Given the description of an element on the screen output the (x, y) to click on. 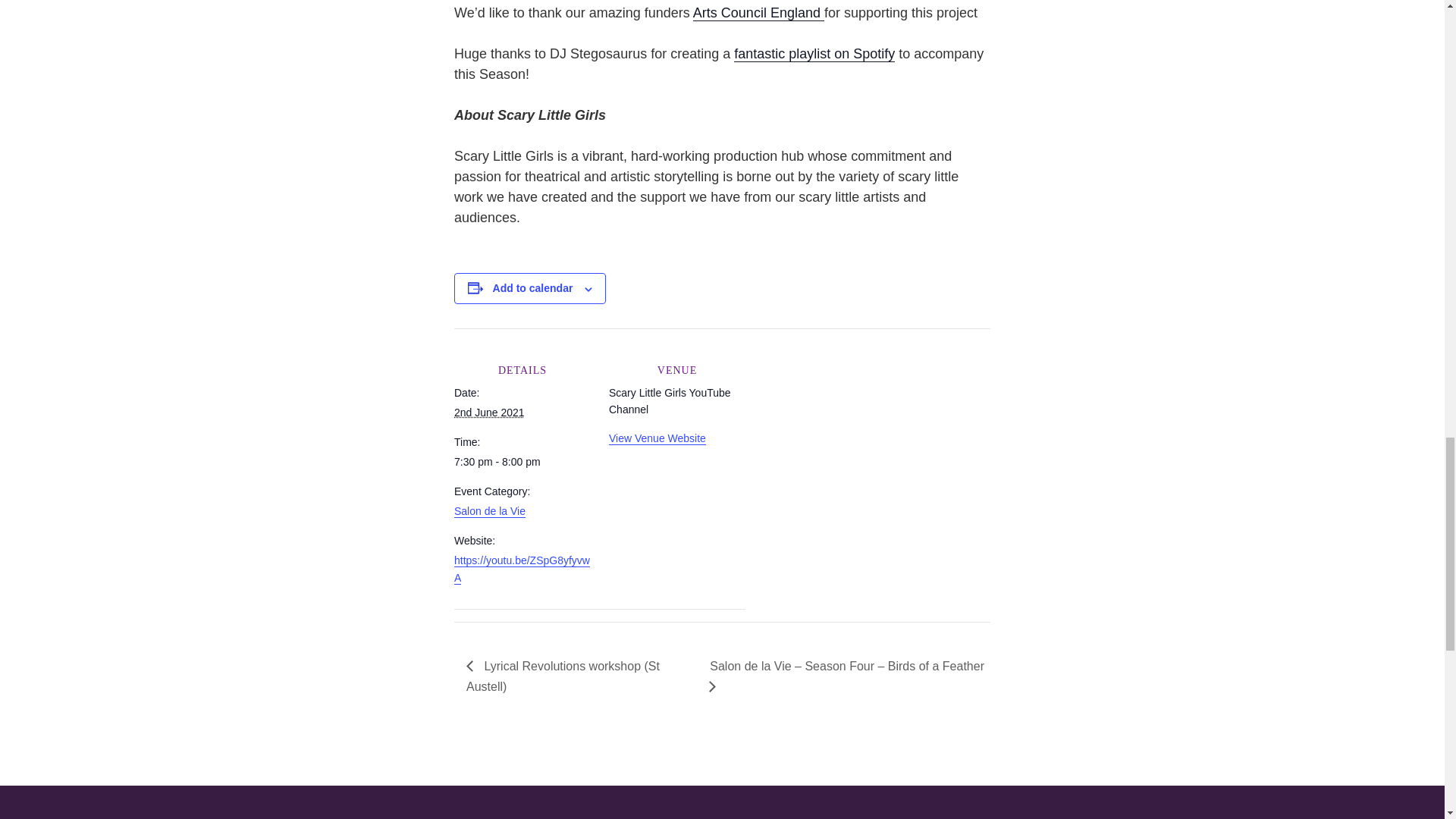
2021-06-02 (522, 461)
2021-06-02 (489, 412)
